Given the description of an element on the screen output the (x, y) to click on. 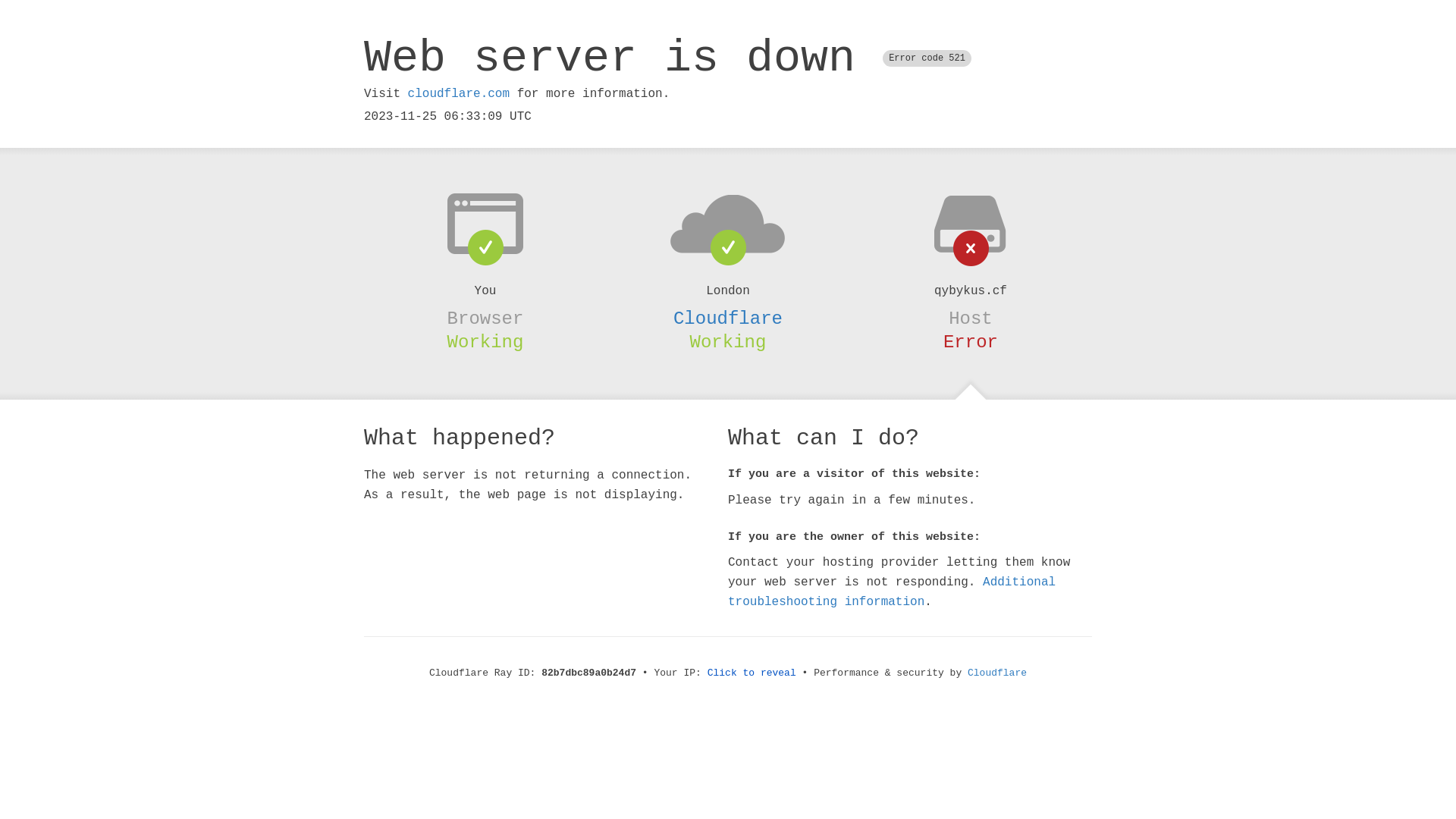
Additional troubleshooting information Element type: text (891, 591)
cloudflare.com Element type: text (458, 93)
Cloudflare Element type: text (727, 318)
Click to reveal Element type: text (751, 672)
Cloudflare Element type: text (996, 672)
